Given the description of an element on the screen output the (x, y) to click on. 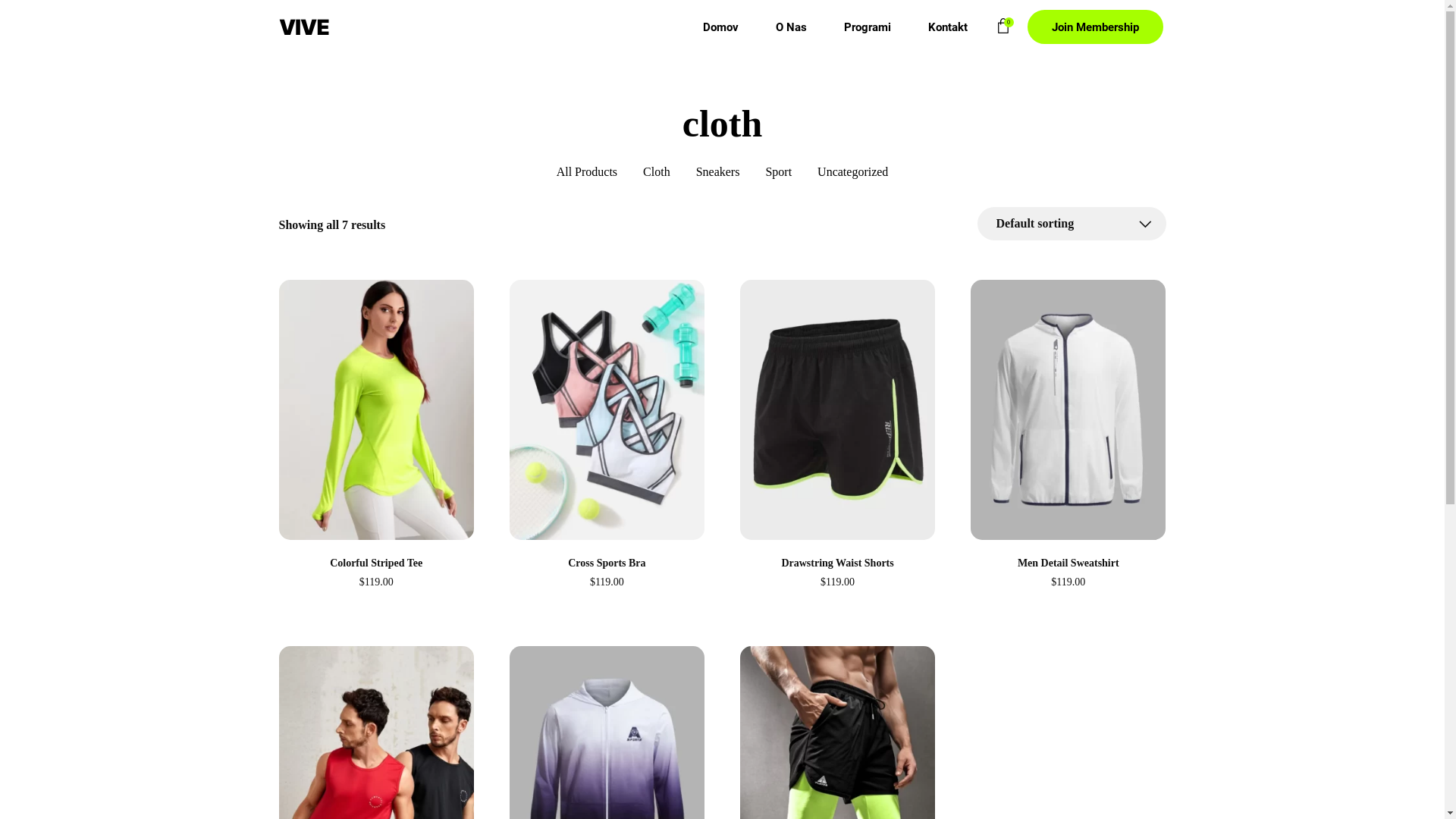
Sport Element type: text (778, 171)
Drawstring Waist Shorts
$119.00 Element type: text (837, 437)
0 Element type: text (1002, 30)
All Products Element type: text (586, 171)
O Nas Element type: text (790, 27)
Men Detail Sweatshirt
$119.00 Element type: text (1067, 437)
Kontakt Element type: text (947, 27)
Join Membership Element type: text (1095, 26)
Domov Element type: text (720, 27)
Sneakers Element type: text (718, 171)
Colorful Striped Tee
$119.00 Element type: text (376, 437)
Cross Sports Bra
$119.00 Element type: text (606, 437)
Uncategorized Element type: text (852, 171)
Programi Element type: text (867, 27)
Cloth Element type: text (656, 171)
